Given the description of an element on the screen output the (x, y) to click on. 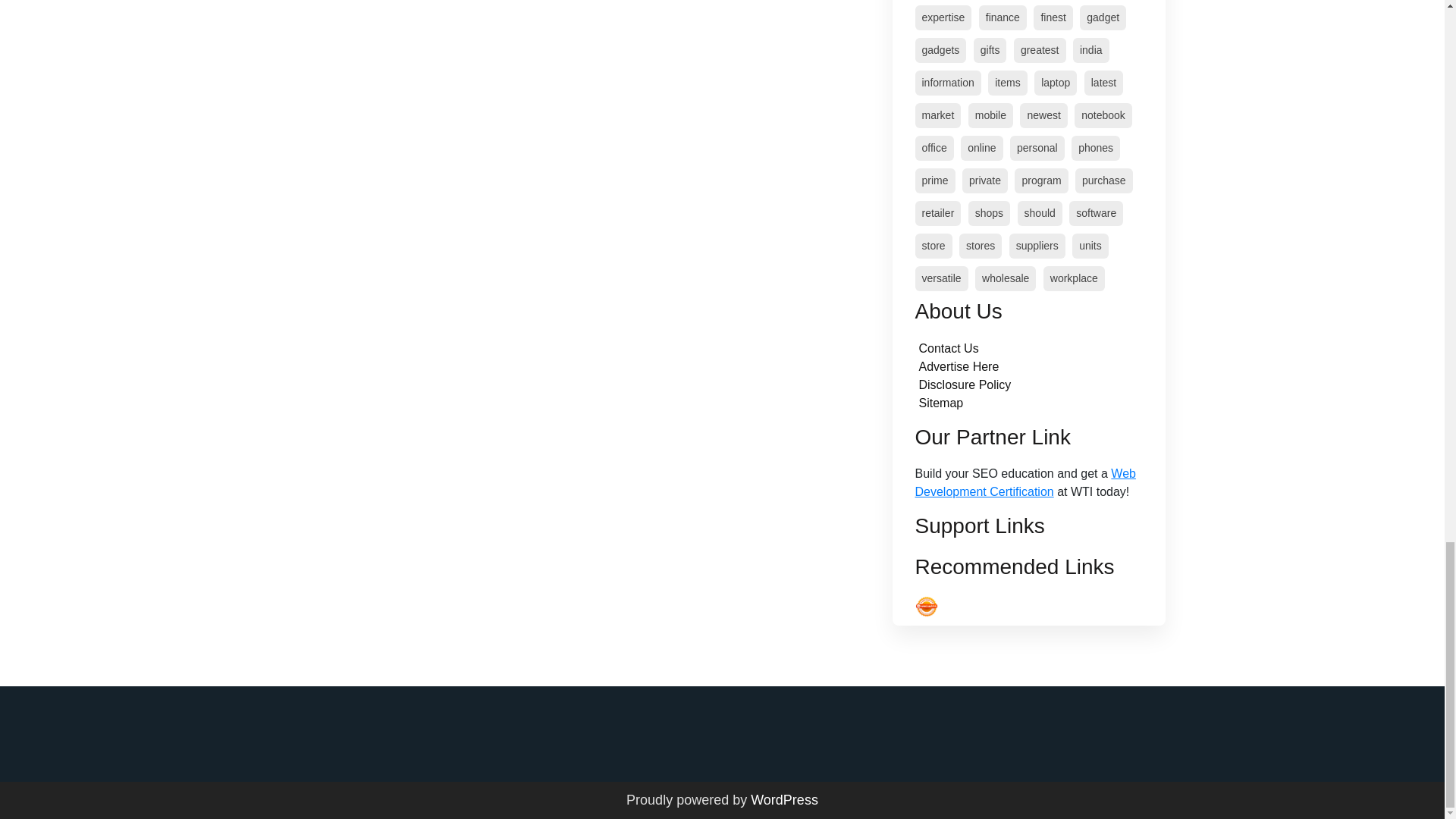
Seedbacklink (925, 606)
